Given the description of an element on the screen output the (x, y) to click on. 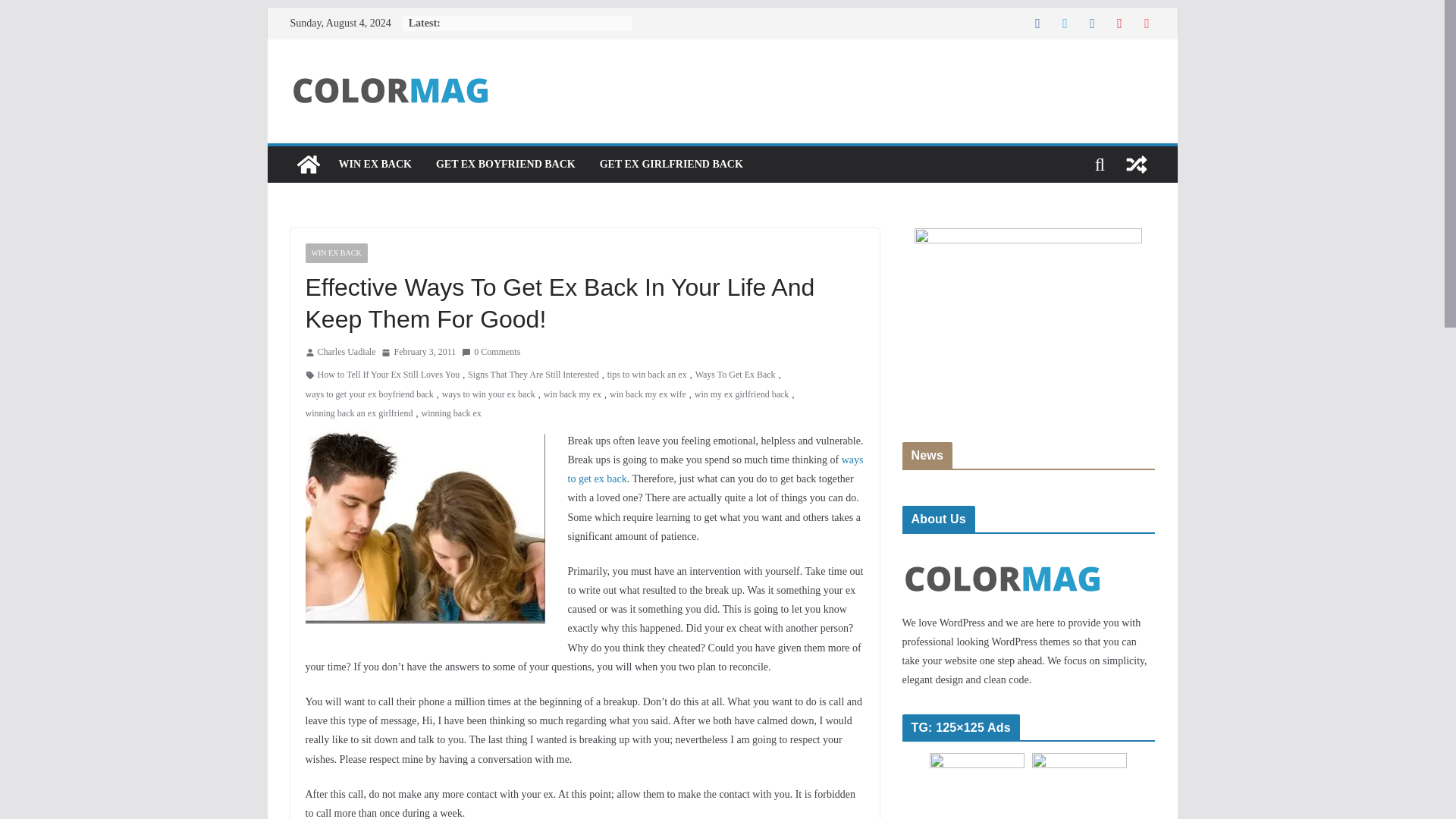
win back my ex (572, 394)
Signs That They Are Still Interested (532, 375)
win back my ex wife (647, 394)
ways to win your ex back (488, 394)
winning back ex (450, 413)
Ways To Get Ex Back (735, 375)
HowToGetBackOnYourEx.com (307, 164)
ways to get your ex boyfriend back (368, 394)
Charles Uadiale (346, 352)
win my ex girlfriend back (741, 394)
February 3, 2011 (418, 352)
WIN EX BACK (373, 164)
ways to get ex back (715, 469)
0 Comments (490, 352)
View a random post (1136, 164)
